Given the description of an element on the screen output the (x, y) to click on. 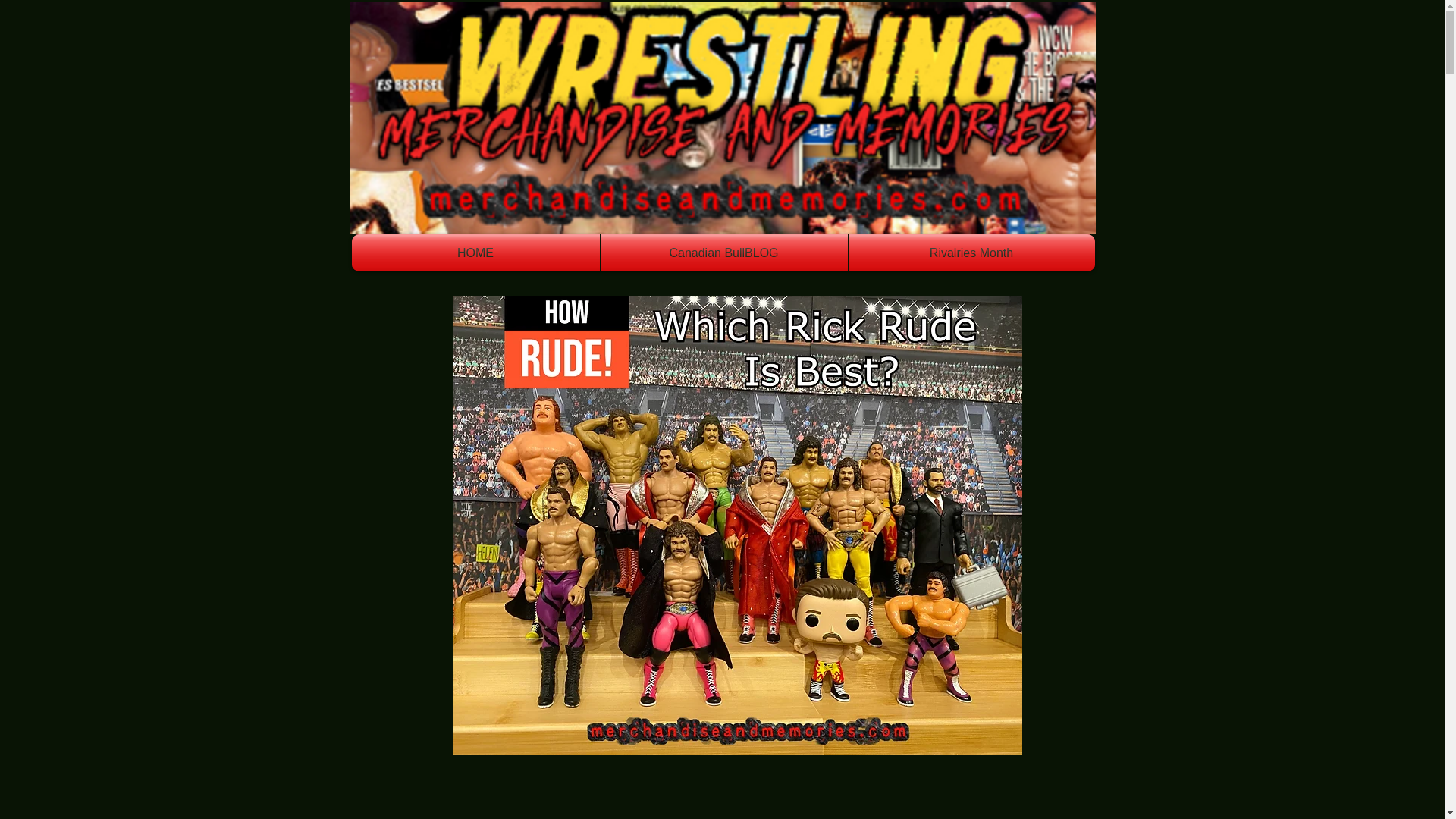
Canadian BullBLOG (723, 252)
Rivalries Month (970, 252)
HOME (475, 252)
